Given the description of an element on the screen output the (x, y) to click on. 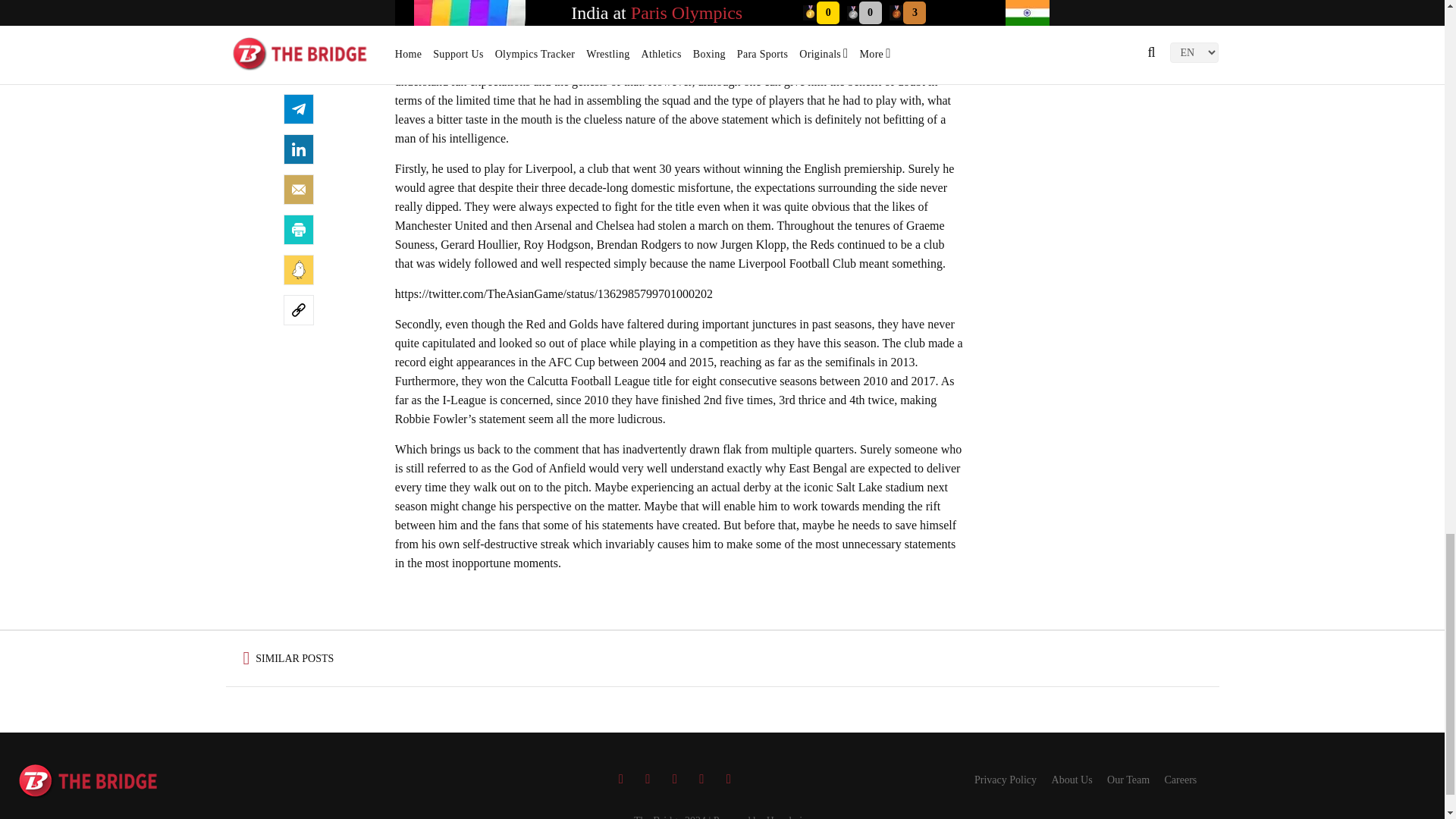
LinkedIn (298, 149)
Share by Email (298, 189)
